Given the description of an element on the screen output the (x, y) to click on. 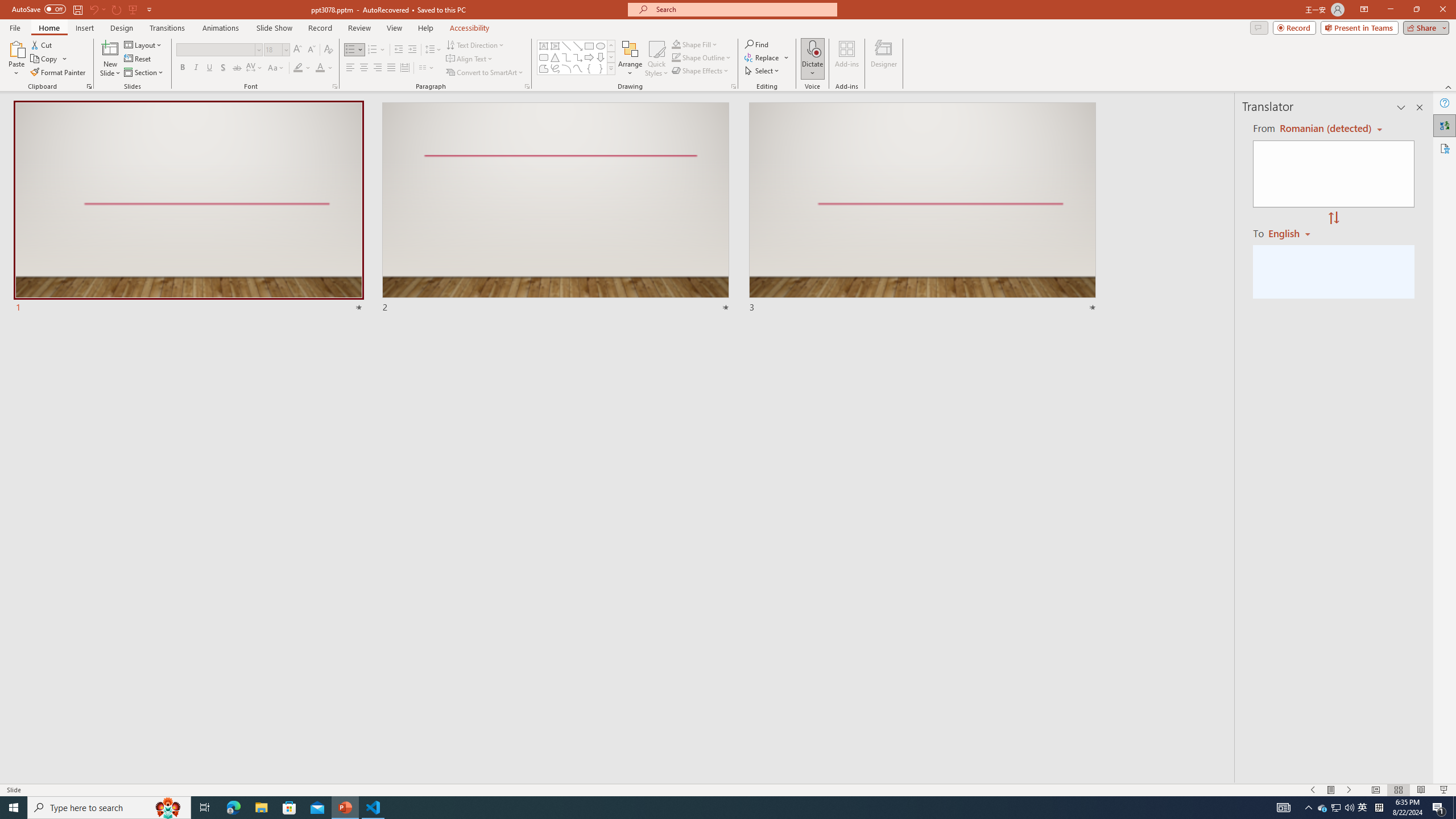
Slide Show Previous On (1313, 790)
